Given the description of an element on the screen output the (x, y) to click on. 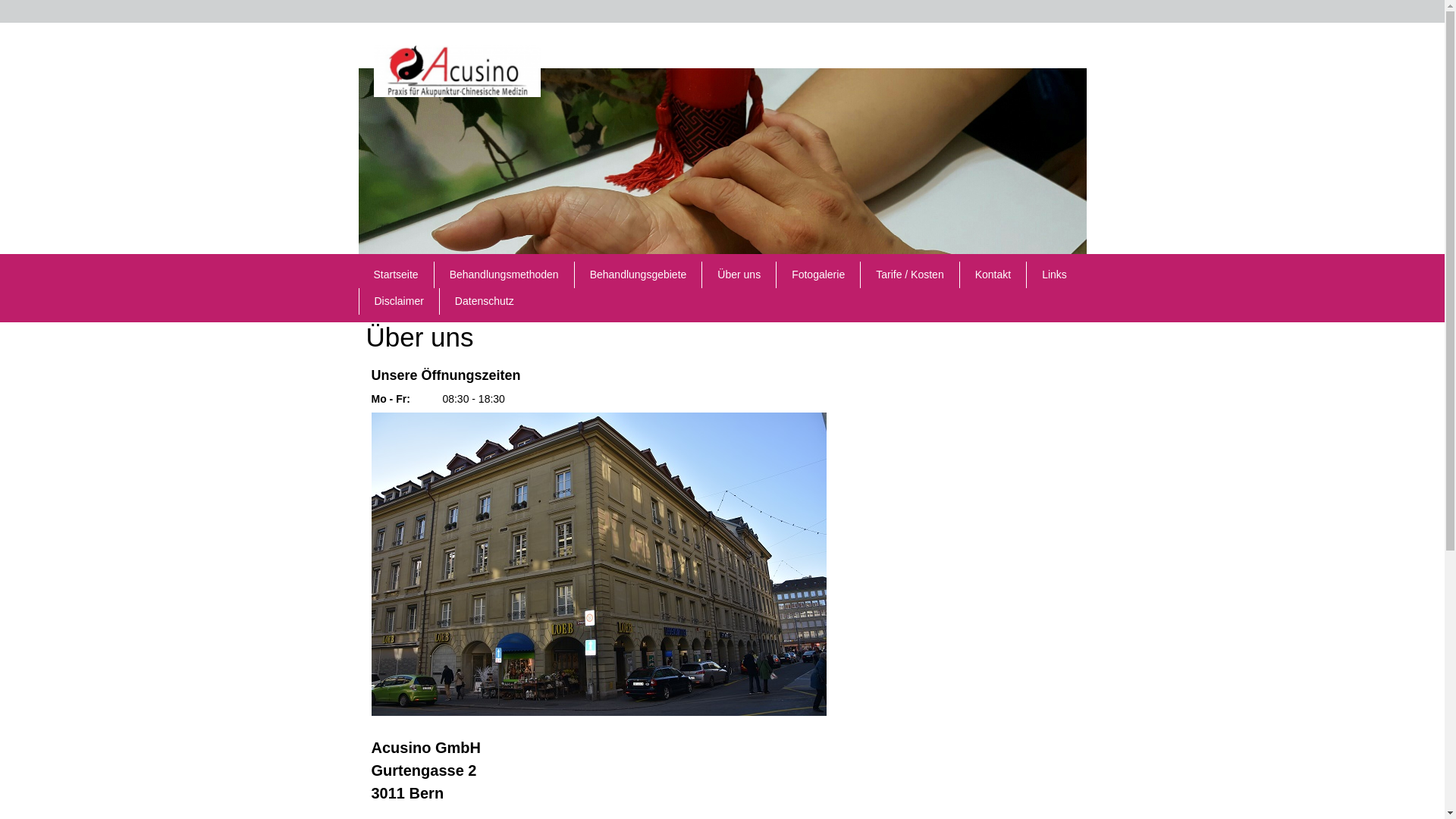
Datenschutz Element type: text (484, 301)
Disclaimer Element type: text (399, 301)
Tarife / Kosten Element type: text (909, 274)
Kontakt Element type: text (993, 274)
Startseite Element type: text (395, 274)
Behandlungsmethoden Element type: text (504, 274)
Behandlungsgebiete Element type: text (638, 274)
Fotogalerie Element type: text (817, 274)
Links Element type: text (1054, 274)
